Given the description of an element on the screen output the (x, y) to click on. 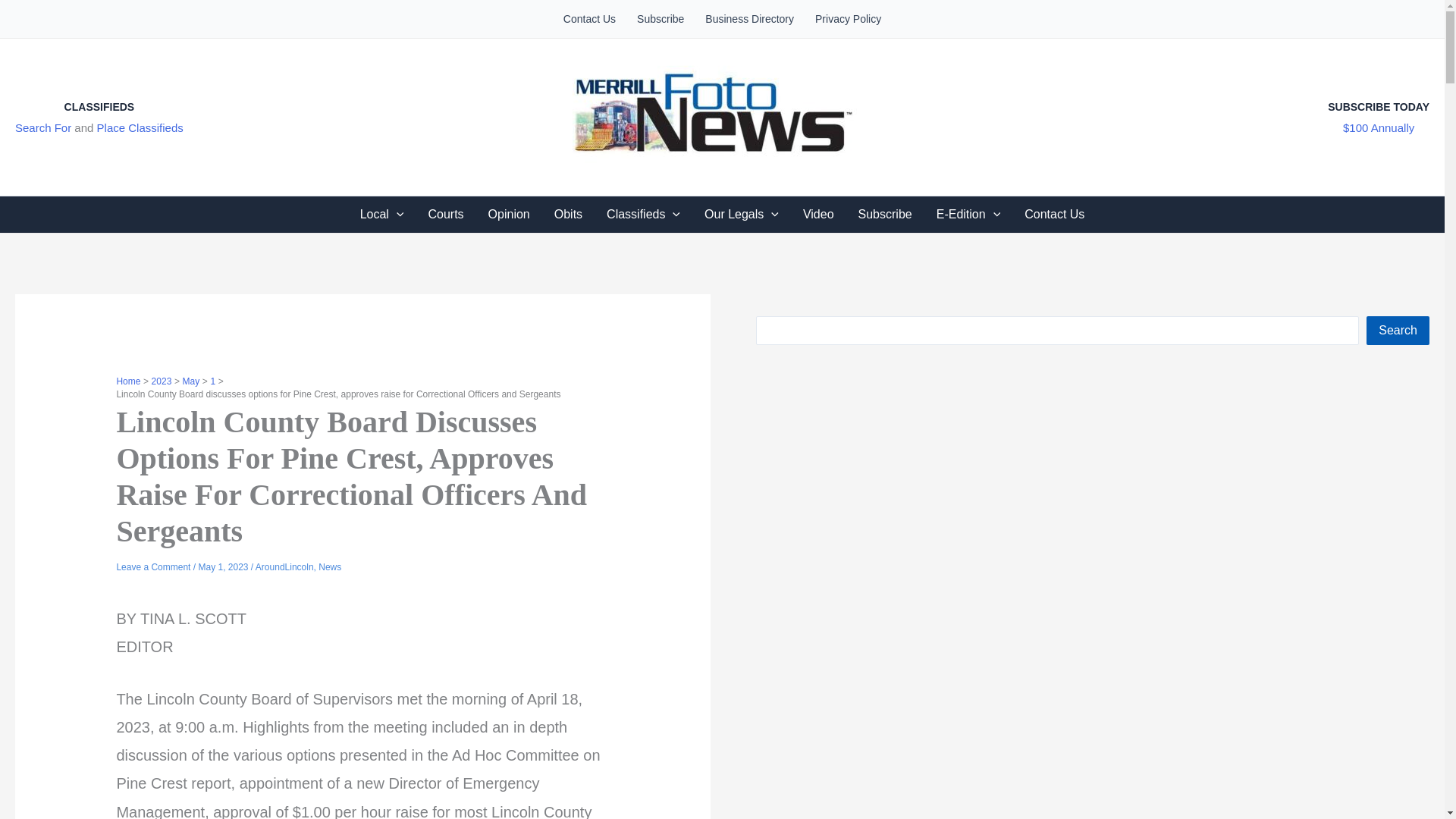
Contact Us (1053, 214)
Subscribe (660, 18)
Obits (567, 214)
Opinion (508, 214)
Courts (445, 214)
Privacy Policy (848, 18)
Video (817, 214)
Place Classifieds (140, 127)
Subscribe (884, 214)
Classifieds (643, 214)
